Given the description of an element on the screen output the (x, y) to click on. 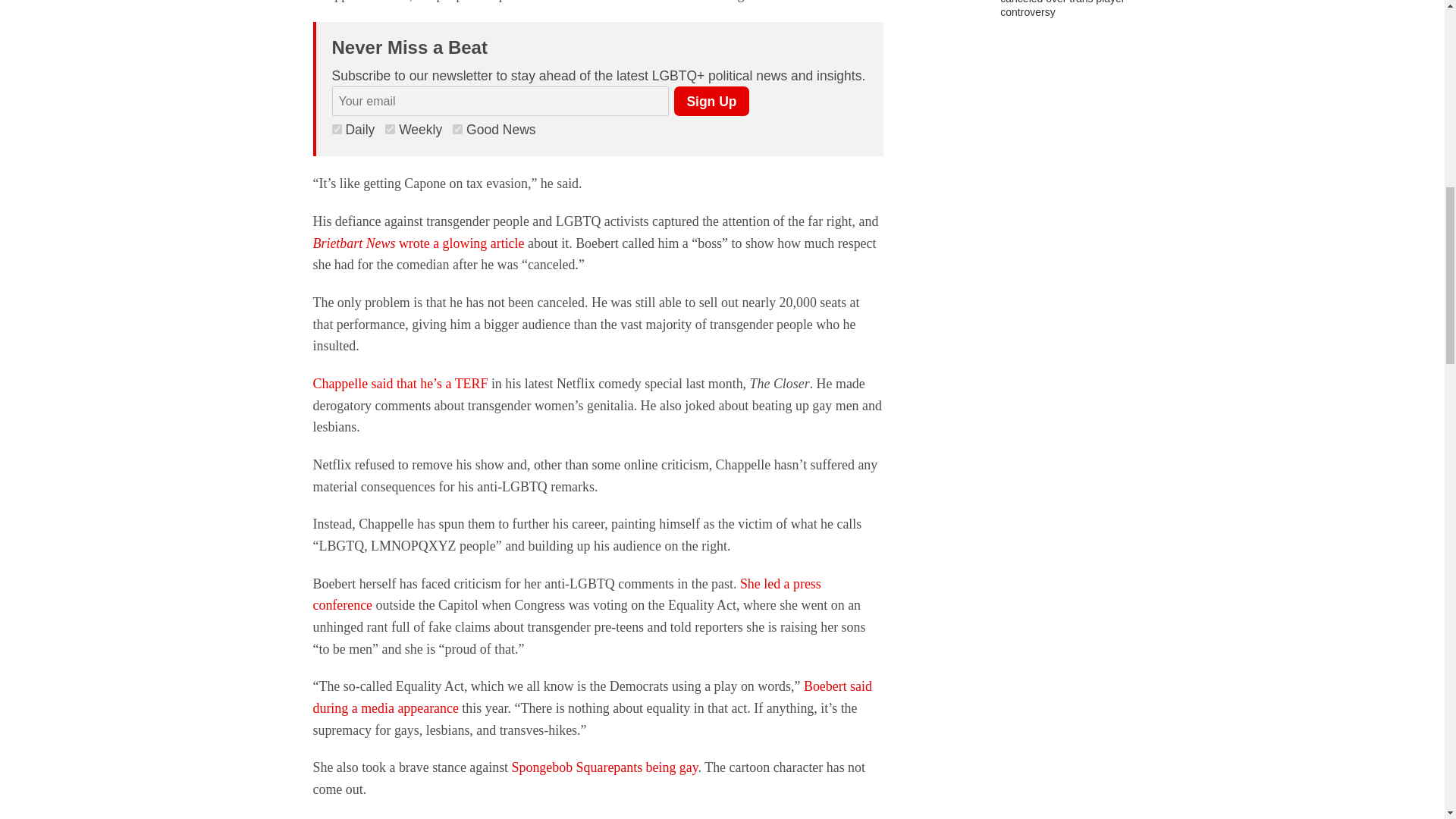
Boebert said during a media appearance (591, 696)
1920885 (336, 129)
1920883 (457, 129)
1920884 (389, 129)
Spongebob Squarepants being gay (605, 767)
Brietbart News wrote a glowing article (418, 242)
She led a press conference (567, 594)
Sign Up (711, 101)
